Given the description of an element on the screen output the (x, y) to click on. 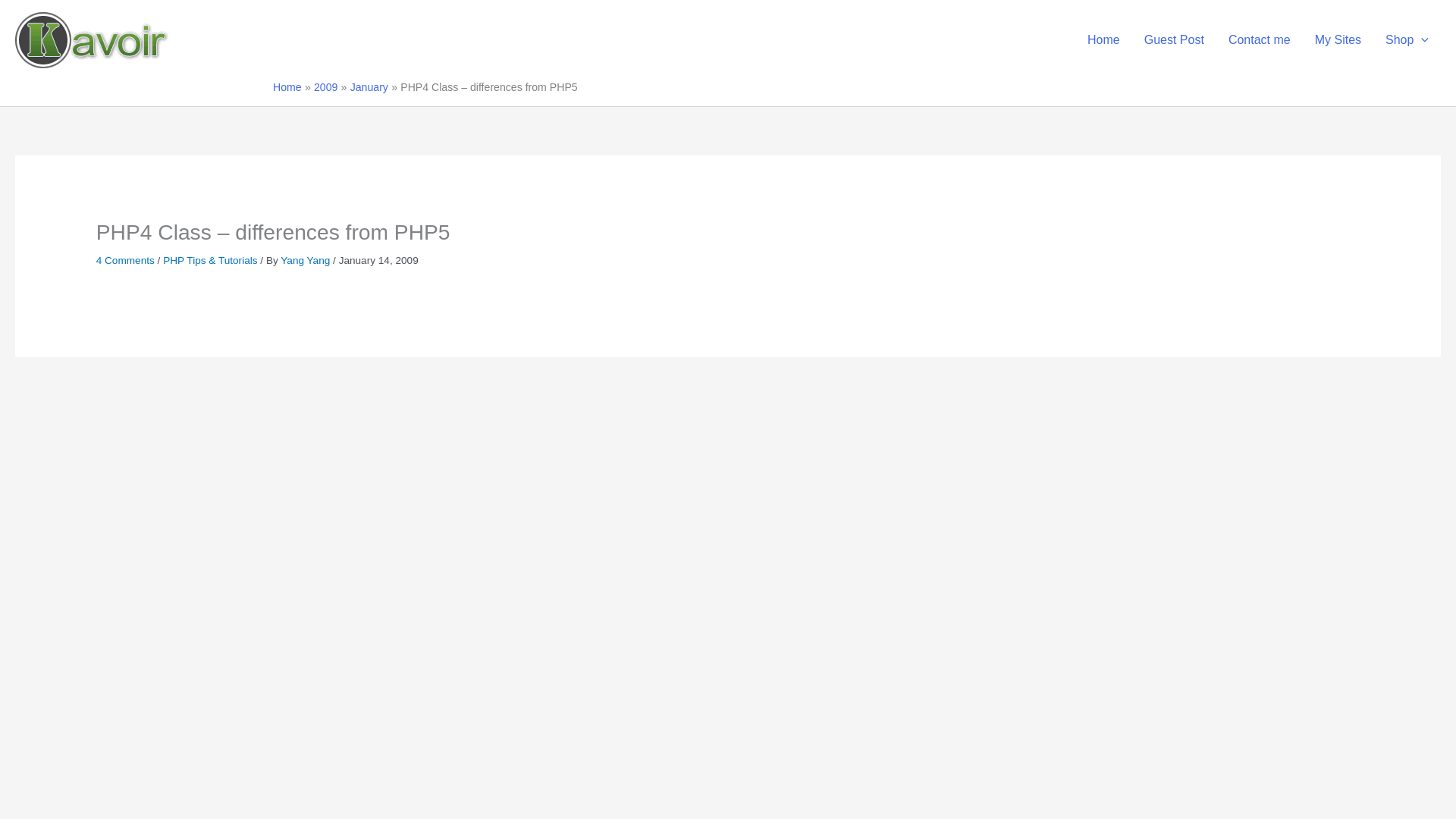
4 Comments (125, 260)
Home (287, 87)
Guest Post (1173, 39)
Shop (1407, 39)
January (369, 87)
Yang Yang (307, 260)
My Sites (1338, 39)
Contact me (1259, 39)
View all posts by Yang Yang (307, 260)
Home (1103, 39)
2009 (325, 87)
